Given the description of an element on the screen output the (x, y) to click on. 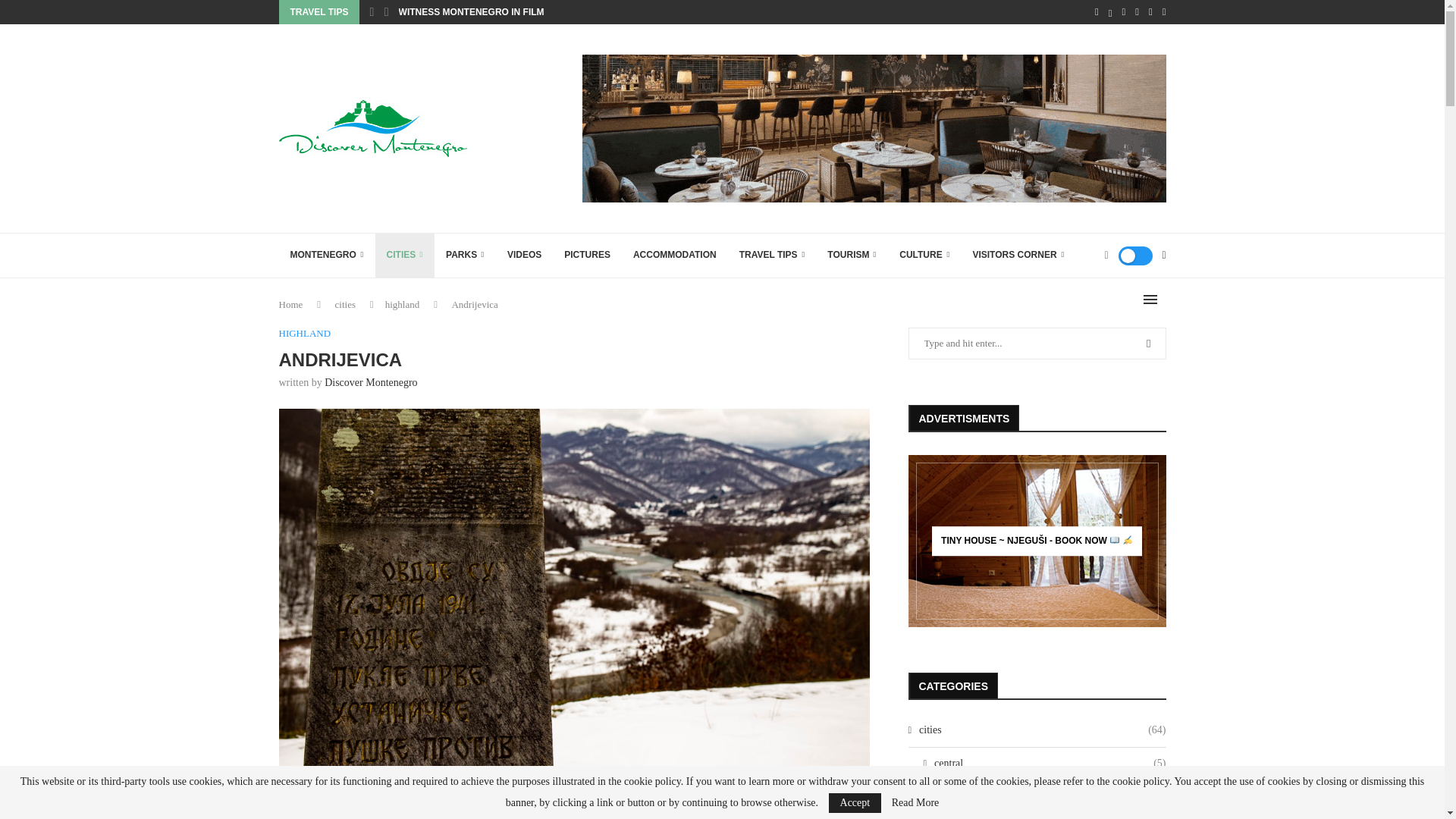
WITNESS MONTENEGRO IN FILM (471, 12)
MONTENEGRO (327, 255)
